Given the description of an element on the screen output the (x, y) to click on. 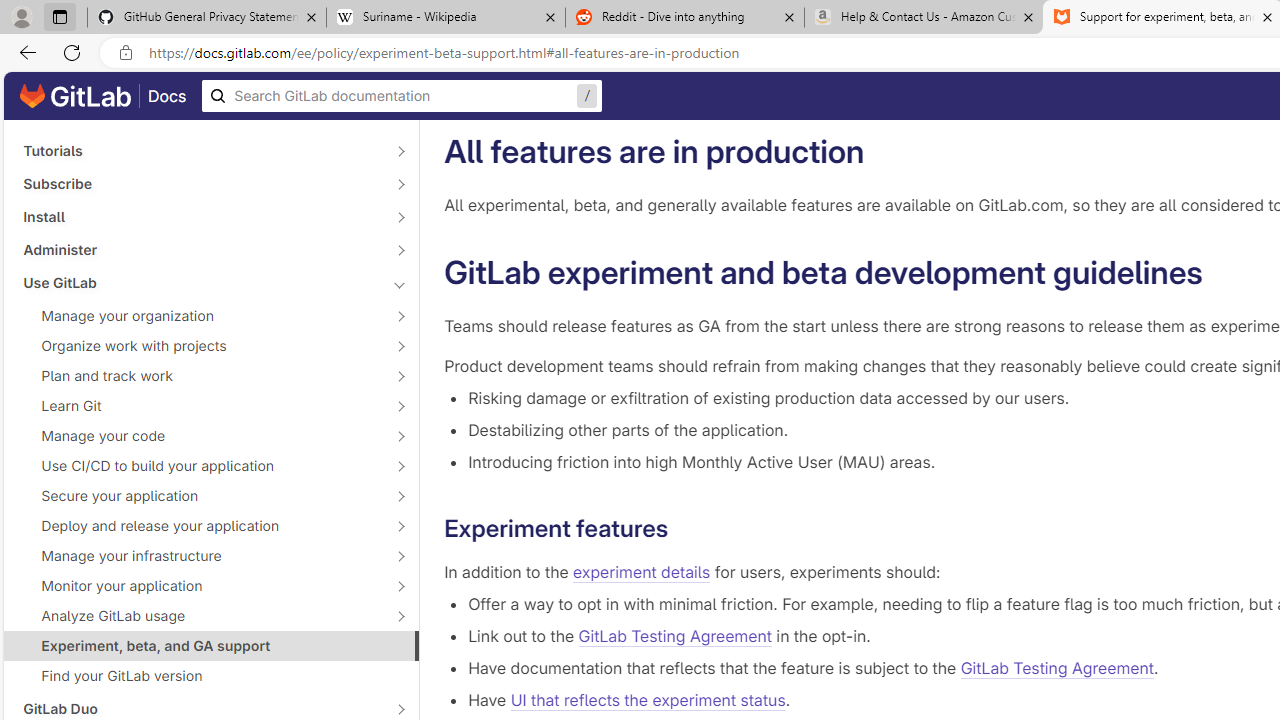
Install (199, 216)
Subscribe (199, 183)
GitHub General Privacy Statement - GitHub Docs (207, 17)
UI that reflects the experiment status (647, 700)
Manage your infrastructure (199, 555)
Manage your code (199, 435)
Permalink (684, 528)
Manage your organization (199, 315)
Secure your application (199, 495)
Tutorials (199, 151)
Organize work with projects (199, 345)
